Given the description of an element on the screen output the (x, y) to click on. 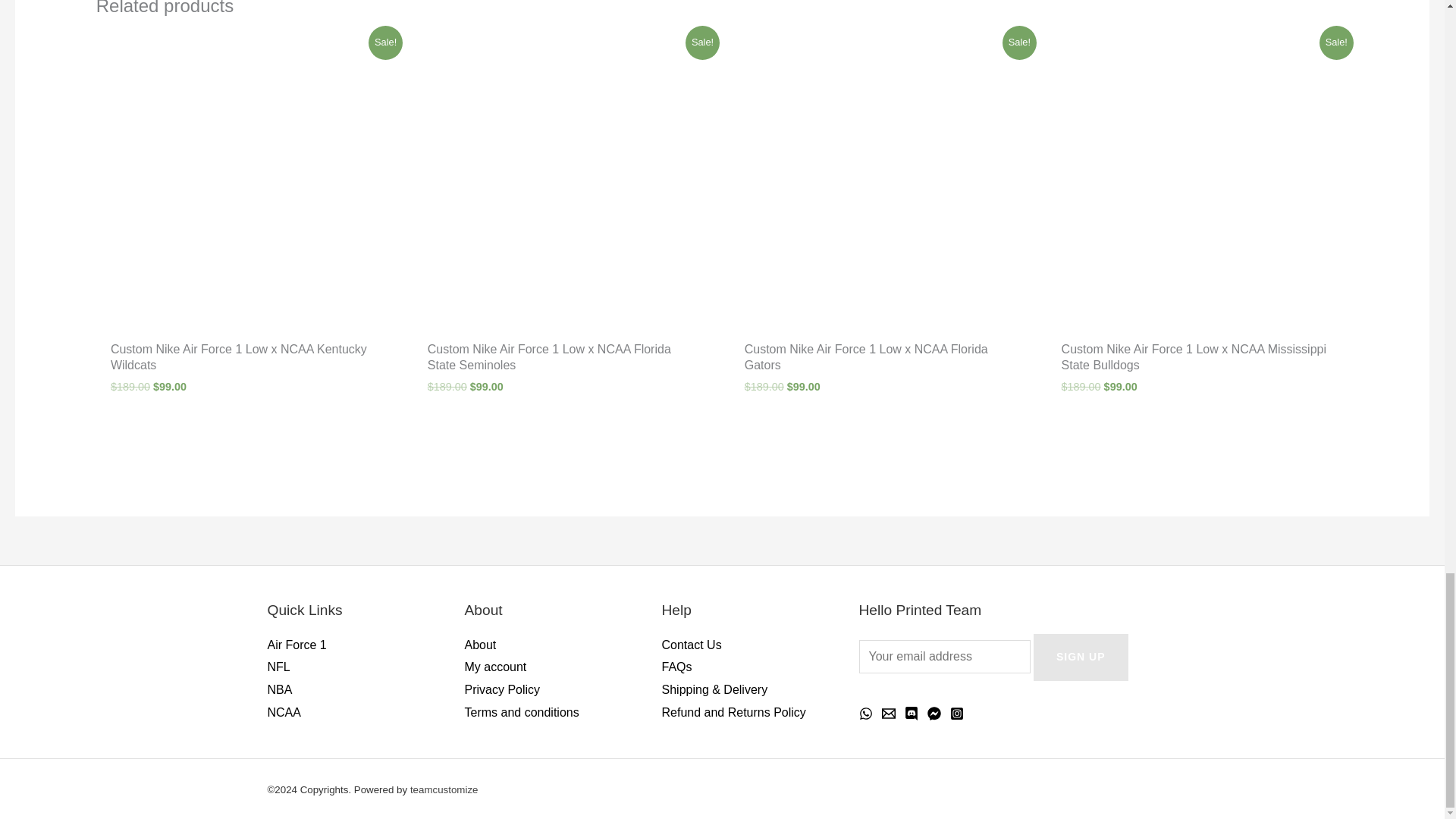
Sign up (1080, 656)
